Given the description of an element on the screen output the (x, y) to click on. 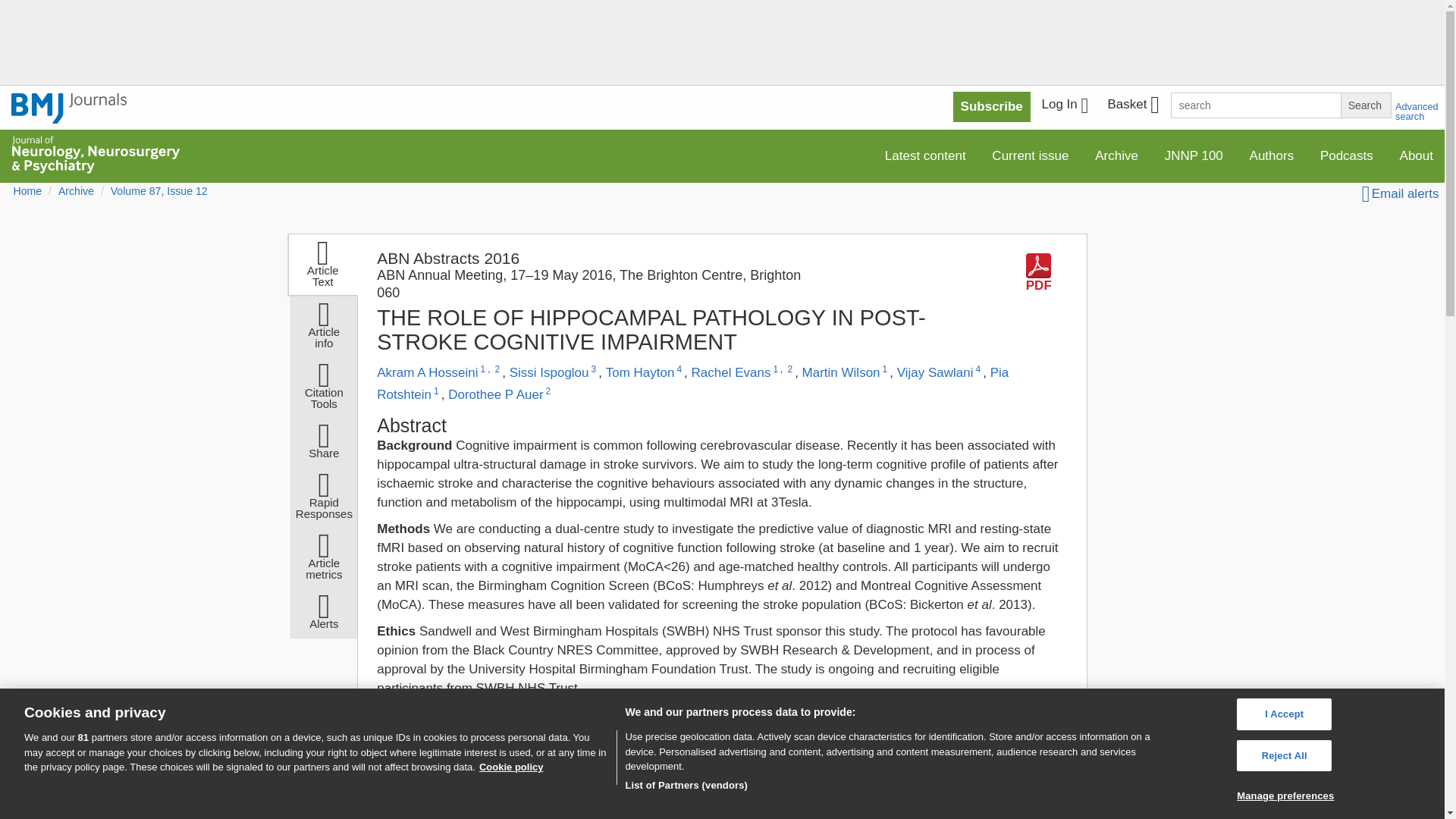
Podcasts (1346, 155)
Latest content (924, 155)
Archive (1116, 155)
Log In (1064, 106)
3rd party ad content (947, 785)
Subscribe (991, 106)
Basket (1132, 106)
Authors (1272, 155)
Current issue (1029, 155)
JNNP 100 (1193, 155)
Search (1364, 104)
BMJ Journals (68, 108)
3rd party ad content (721, 45)
Search (1364, 104)
